Given the description of an element on the screen output the (x, y) to click on. 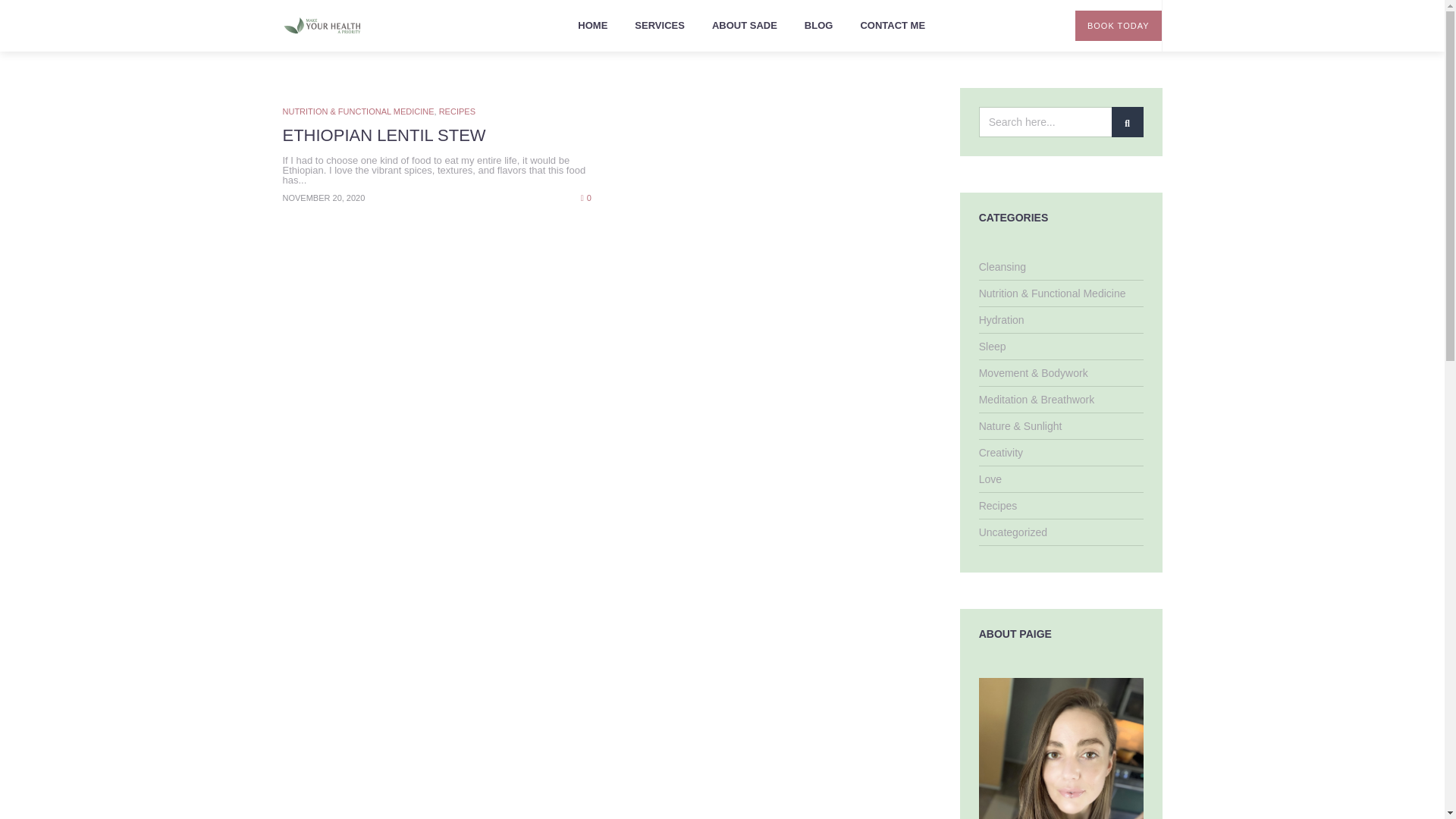
Search here... (1060, 122)
SERVICES (659, 25)
0 (585, 196)
Love (989, 479)
BLOG (818, 25)
Cleansing (1002, 266)
Uncategorized (1012, 532)
Recipes (997, 505)
ABOUT SADE (744, 25)
View all posts in Recipes (457, 111)
